Given the description of an element on the screen output the (x, y) to click on. 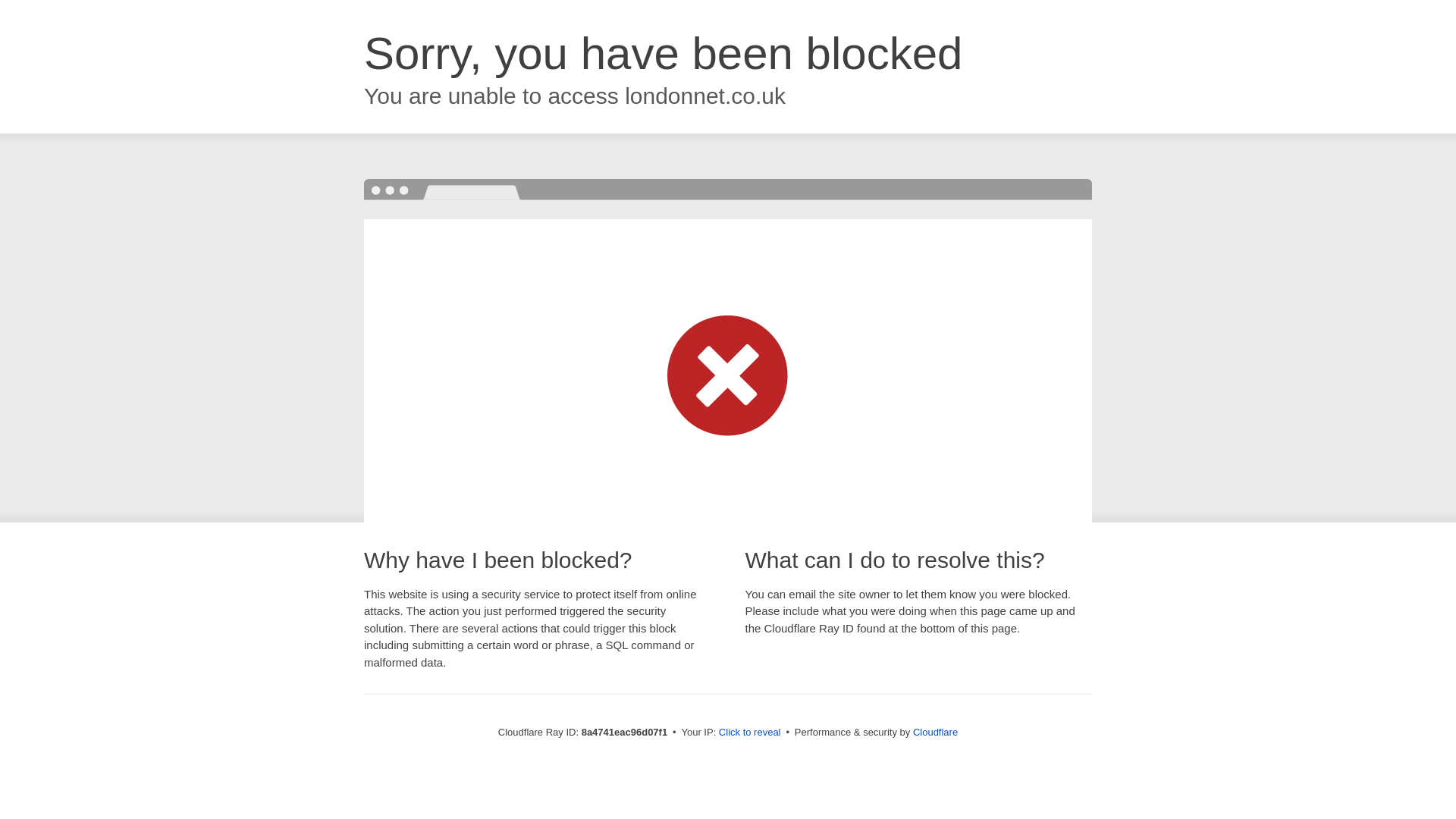
Cloudflare (935, 731)
Click to reveal (749, 732)
